Given the description of an element on the screen output the (x, y) to click on. 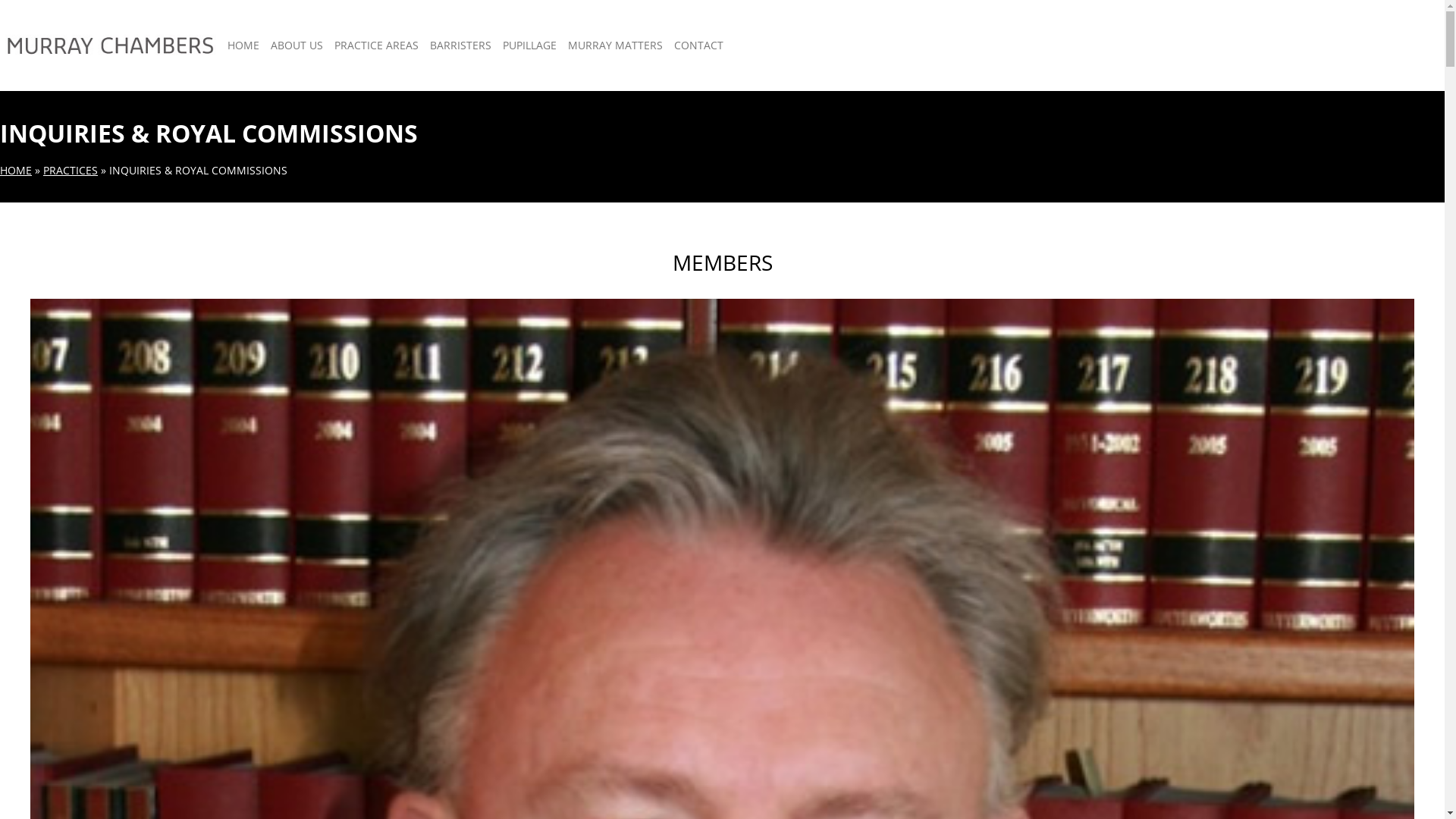
HOME Element type: text (243, 45)
HOME Element type: text (15, 170)
PRACTICES Element type: text (70, 170)
MURRAY MATTERS Element type: text (614, 45)
ABOUT US Element type: text (296, 45)
PUPILLAGE Element type: text (529, 45)
PRACTICE AREAS Element type: text (376, 45)
BARRISTERS Element type: text (460, 45)
MURRAY CHAMBERS | BARRISTERS Element type: text (88, 117)
CONTACT Element type: text (698, 45)
